Given the description of an element on the screen output the (x, y) to click on. 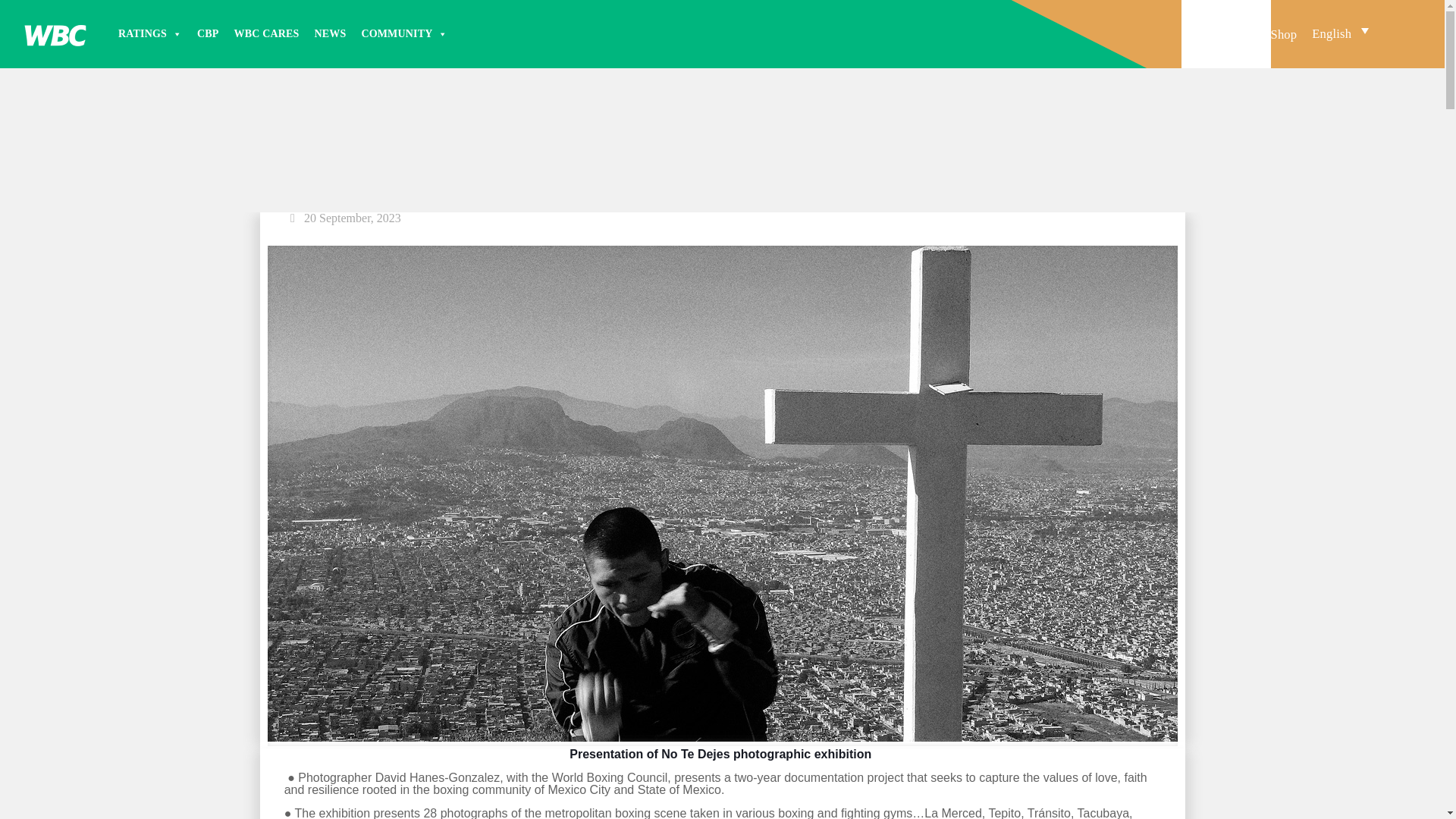
RATINGS (149, 33)
World Boxing Council (55, 33)
